Given the description of an element on the screen output the (x, y) to click on. 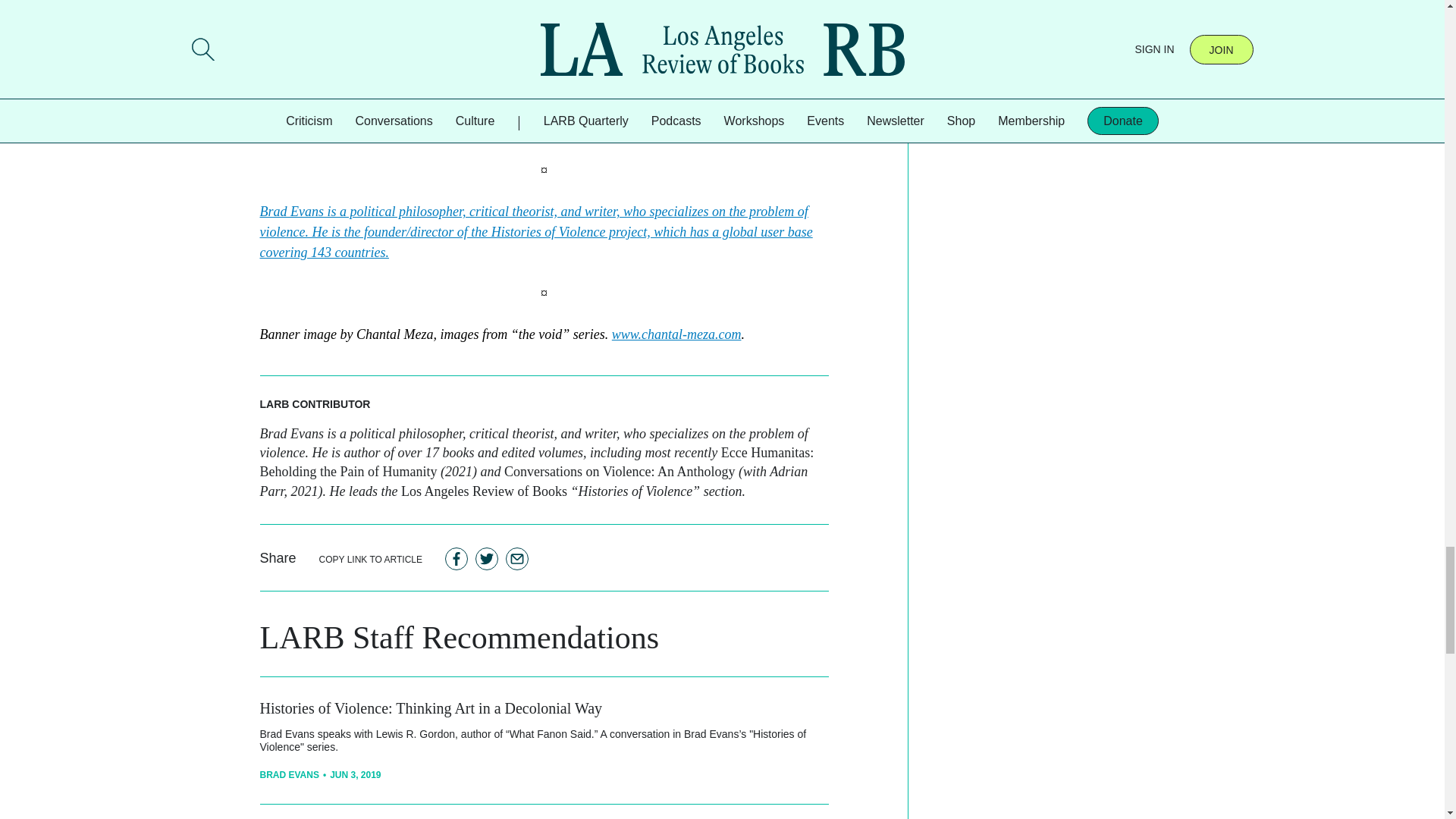
Share on facebook (456, 558)
Histories of Violence: Thinking Art in a Decolonial Way (430, 708)
BRAD EVANS (288, 774)
COPY LINK TO ARTICLE (370, 558)
Share on twitter (486, 558)
www.chantal-meza.com (676, 334)
